Given the description of an element on the screen output the (x, y) to click on. 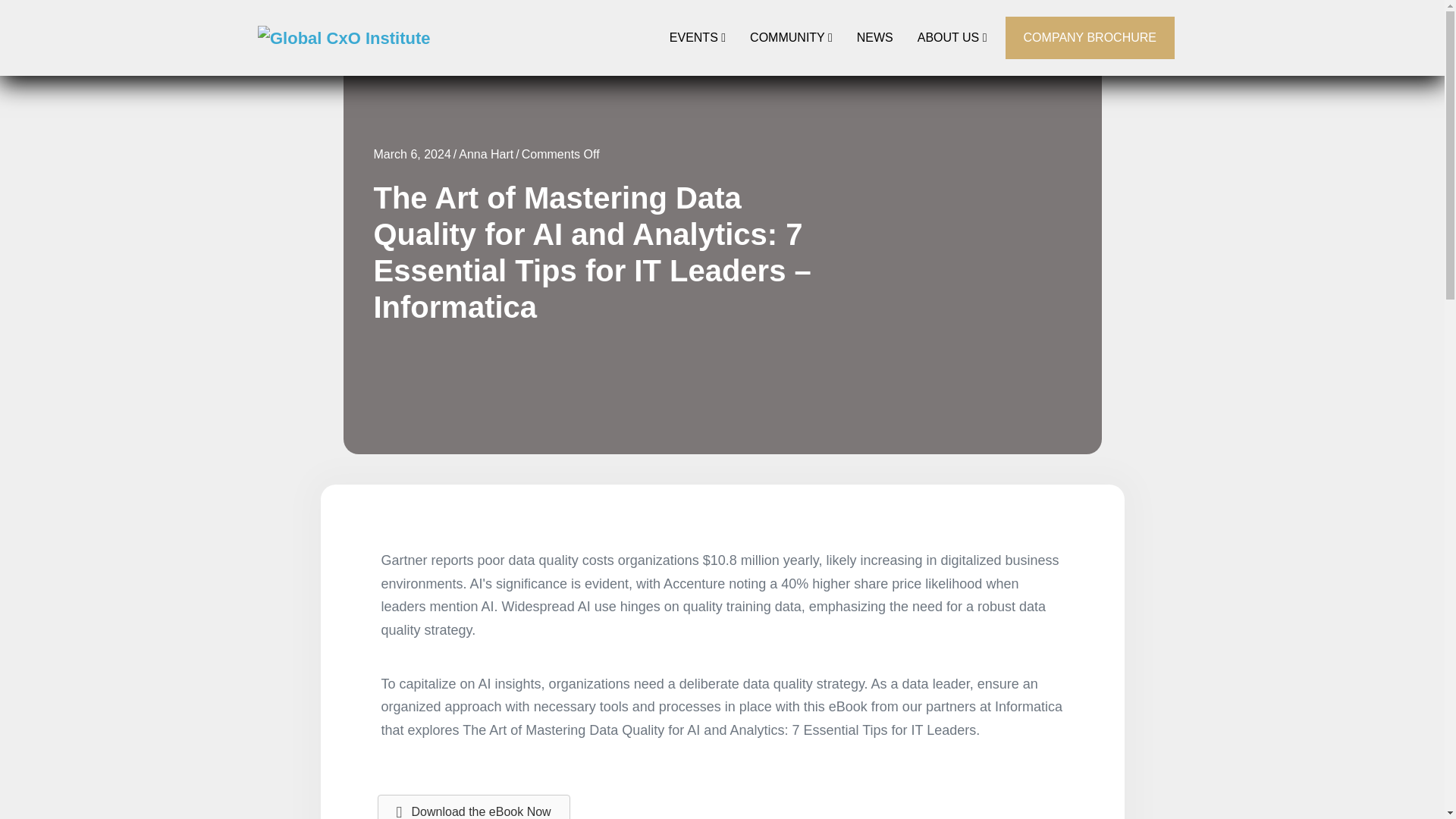
COMPANY BROCHURE (1090, 37)
EVENTS (697, 37)
ABOUT US (951, 37)
Download the eBook Now (473, 806)
Anna Hart (485, 154)
Global CxO Institute (343, 37)
COMMUNITY (791, 37)
